Given the description of an element on the screen output the (x, y) to click on. 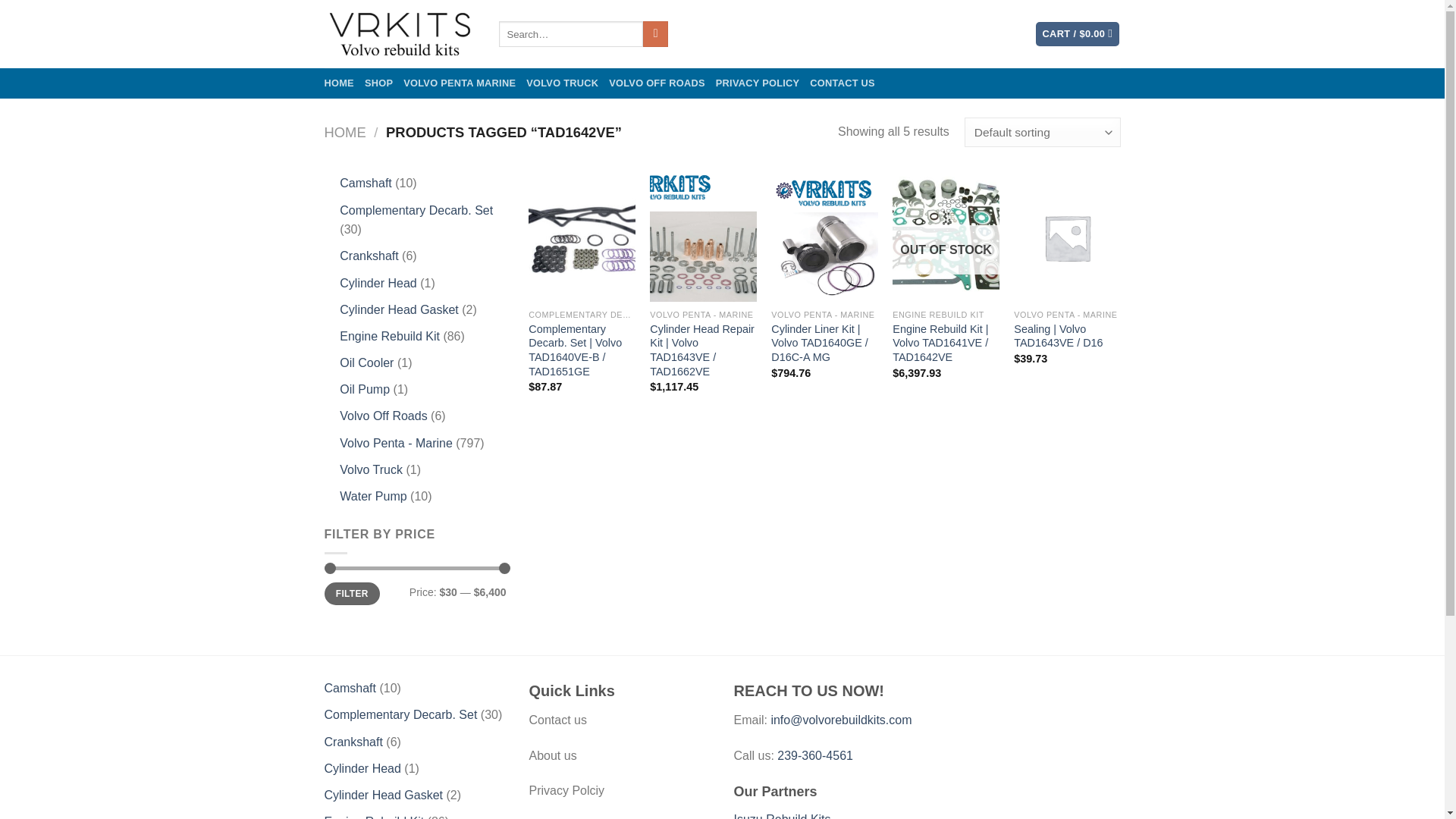
VOLVO TRUCK (561, 82)
Volvo Off Roads (382, 415)
HOME (338, 82)
Cart (1077, 34)
PRIVACY POLICY (757, 82)
Engine Rebuild Kit (389, 336)
Cylinder Head (377, 282)
Complementary Decarb. Set (416, 210)
Oil Cooler (366, 362)
Search (655, 33)
Water Pump (372, 495)
Cylinder Head Gasket (398, 309)
Volvo Truck (371, 469)
FILTER (352, 594)
Oil Pump (364, 389)
